Given the description of an element on the screen output the (x, y) to click on. 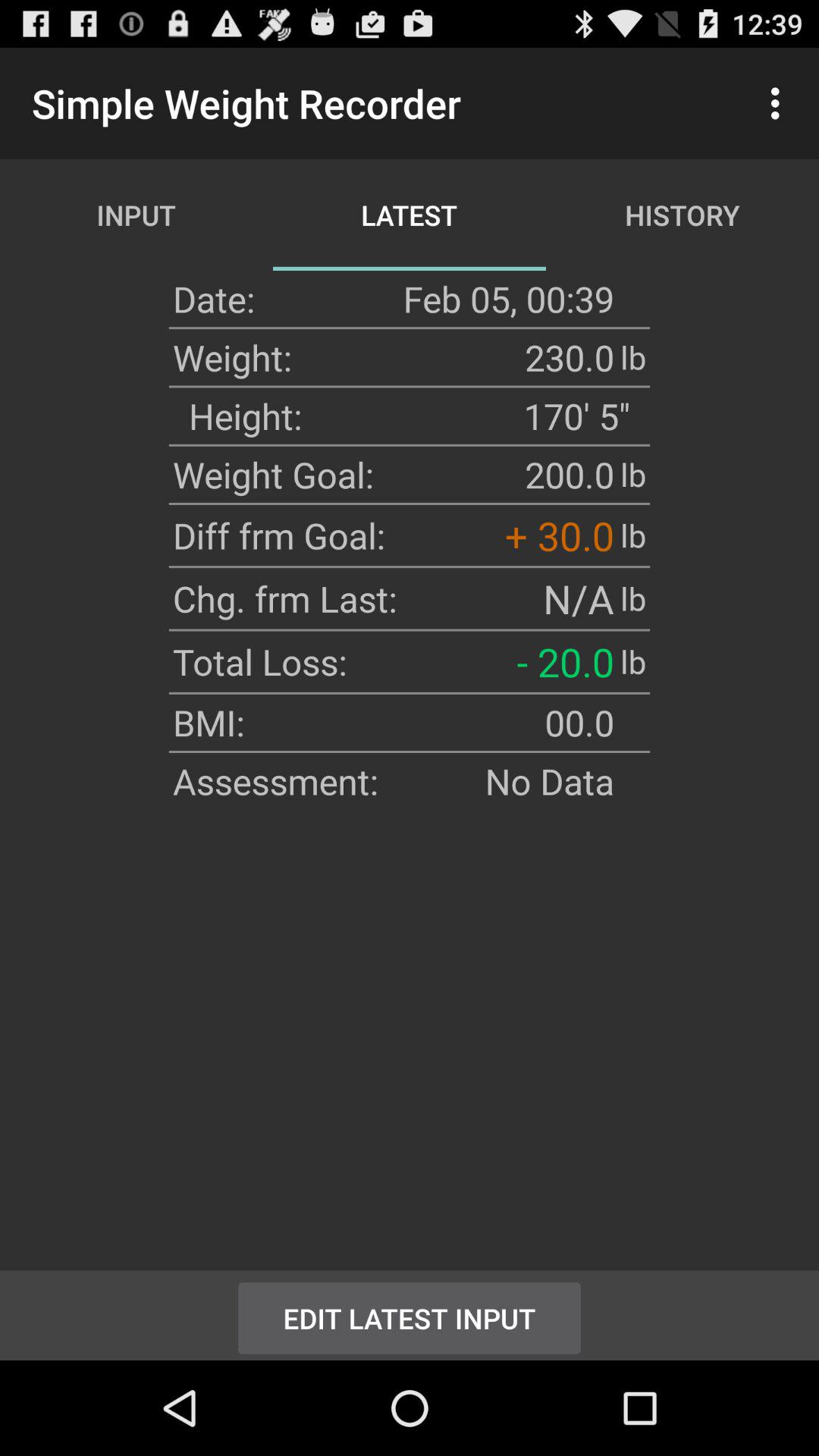
flip to edit latest input (409, 1315)
